Given the description of an element on the screen output the (x, y) to click on. 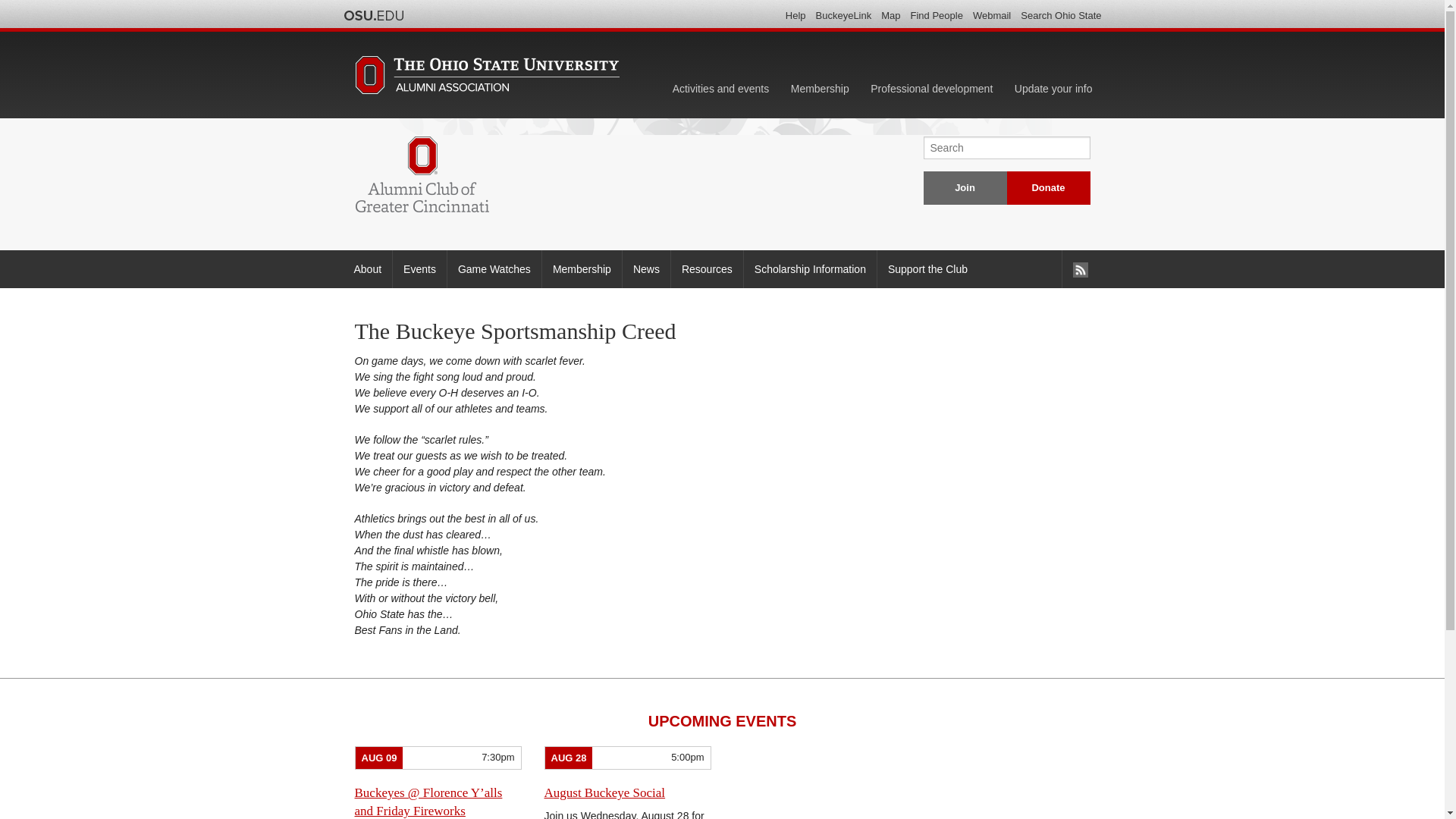
Alumni Club of Greater Cincinnati  (422, 174)
Professional development (931, 88)
Events (418, 269)
Membership (820, 88)
About (366, 269)
Membership (581, 269)
August Buckeye Social (604, 792)
Help (796, 15)
Find People (936, 15)
Join (965, 187)
